Given the description of an element on the screen output the (x, y) to click on. 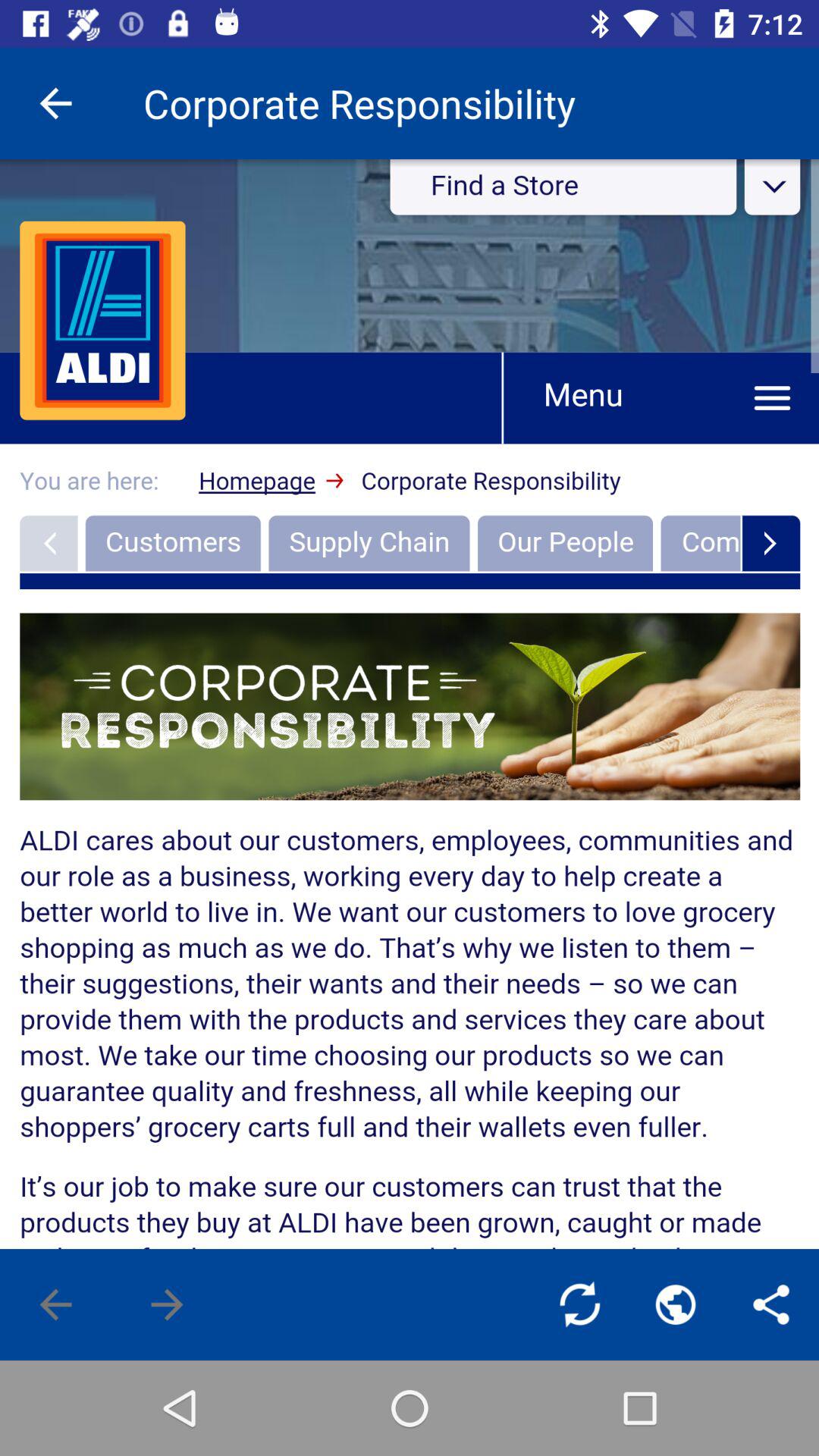
press icon next to corporate responsibility item (55, 103)
